Given the description of an element on the screen output the (x, y) to click on. 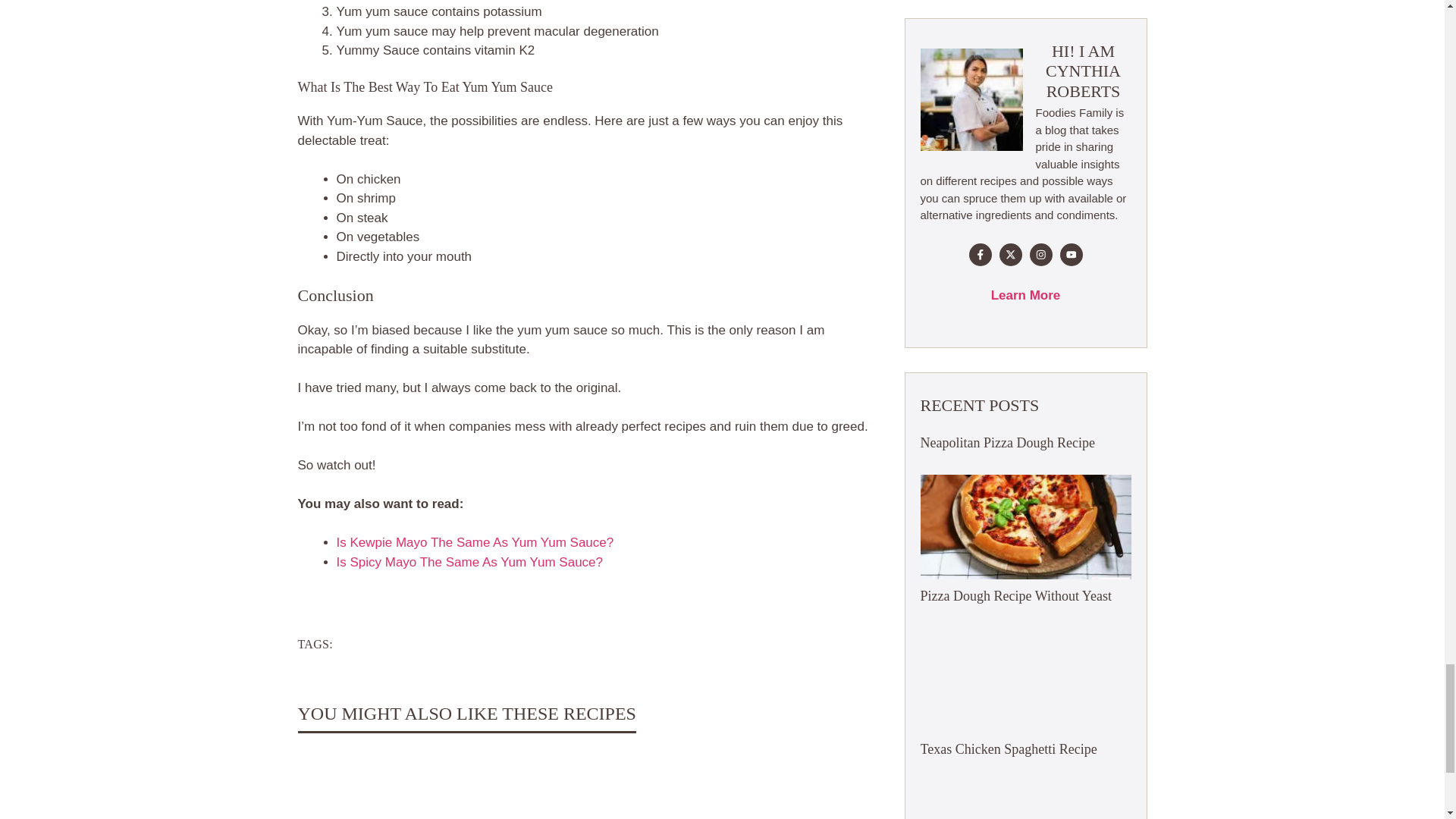
Is Spicy Mayo The Same As Yum Yum Sauce? (470, 562)
Is Kewpie Mayo The Same As Yum Yum Sauce? (475, 542)
